Given the description of an element on the screen output the (x, y) to click on. 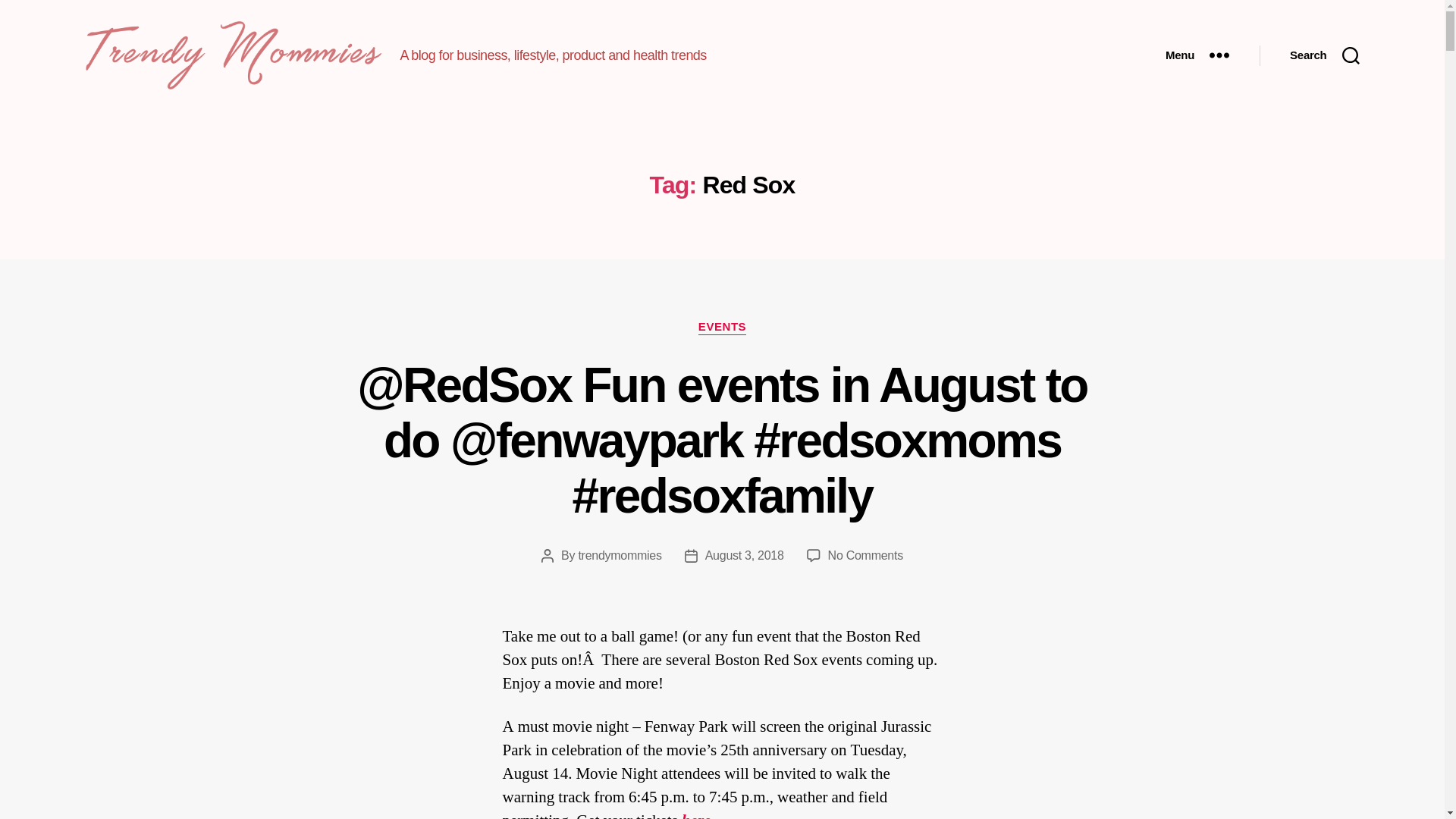
Search (1324, 55)
EVENTS (721, 327)
trendymommies (619, 554)
here (696, 814)
August 3, 2018 (744, 554)
Menu (1197, 55)
